Given the description of an element on the screen output the (x, y) to click on. 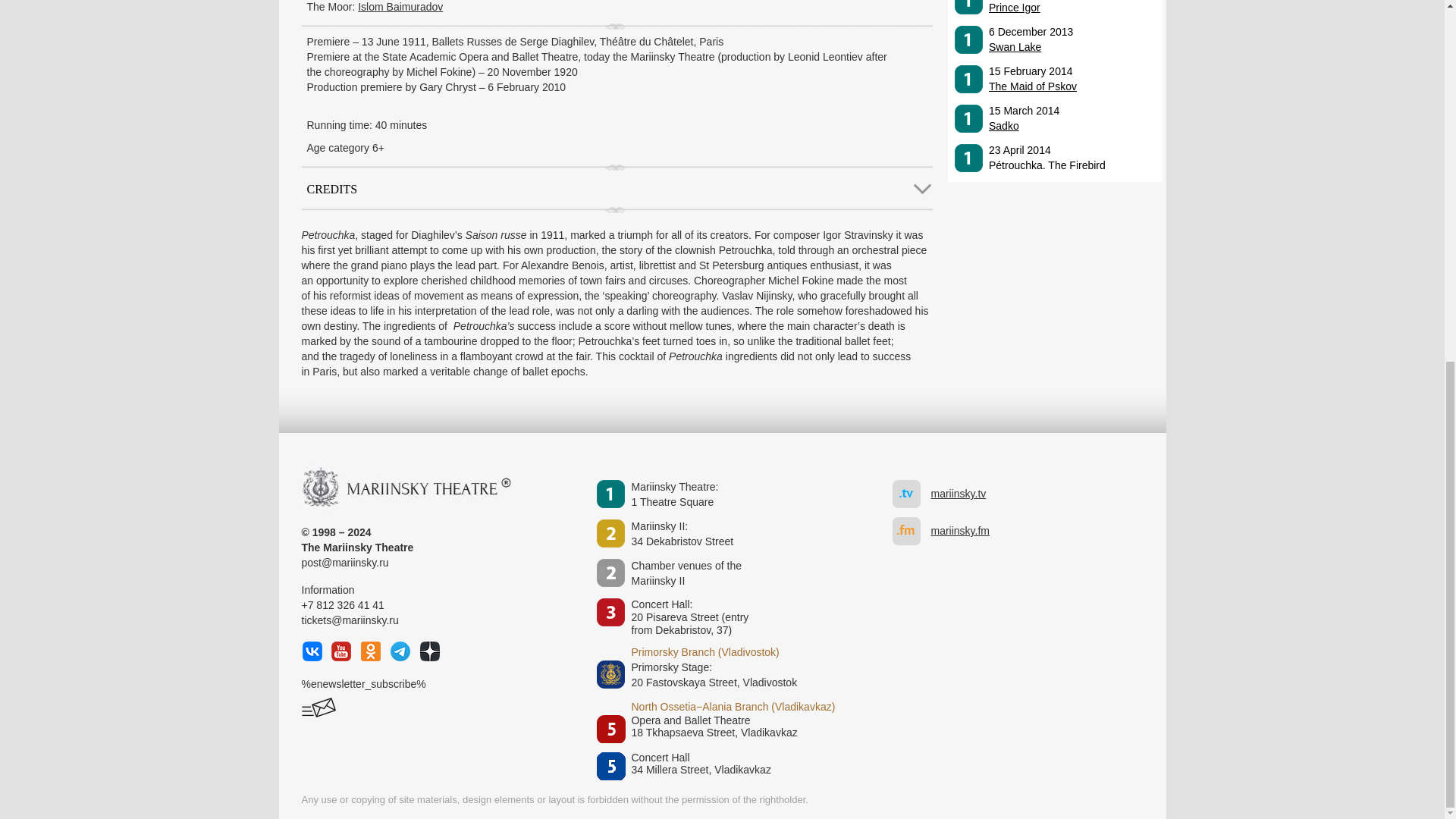
Islom Baimuradov (400, 6)
